Given the description of an element on the screen output the (x, y) to click on. 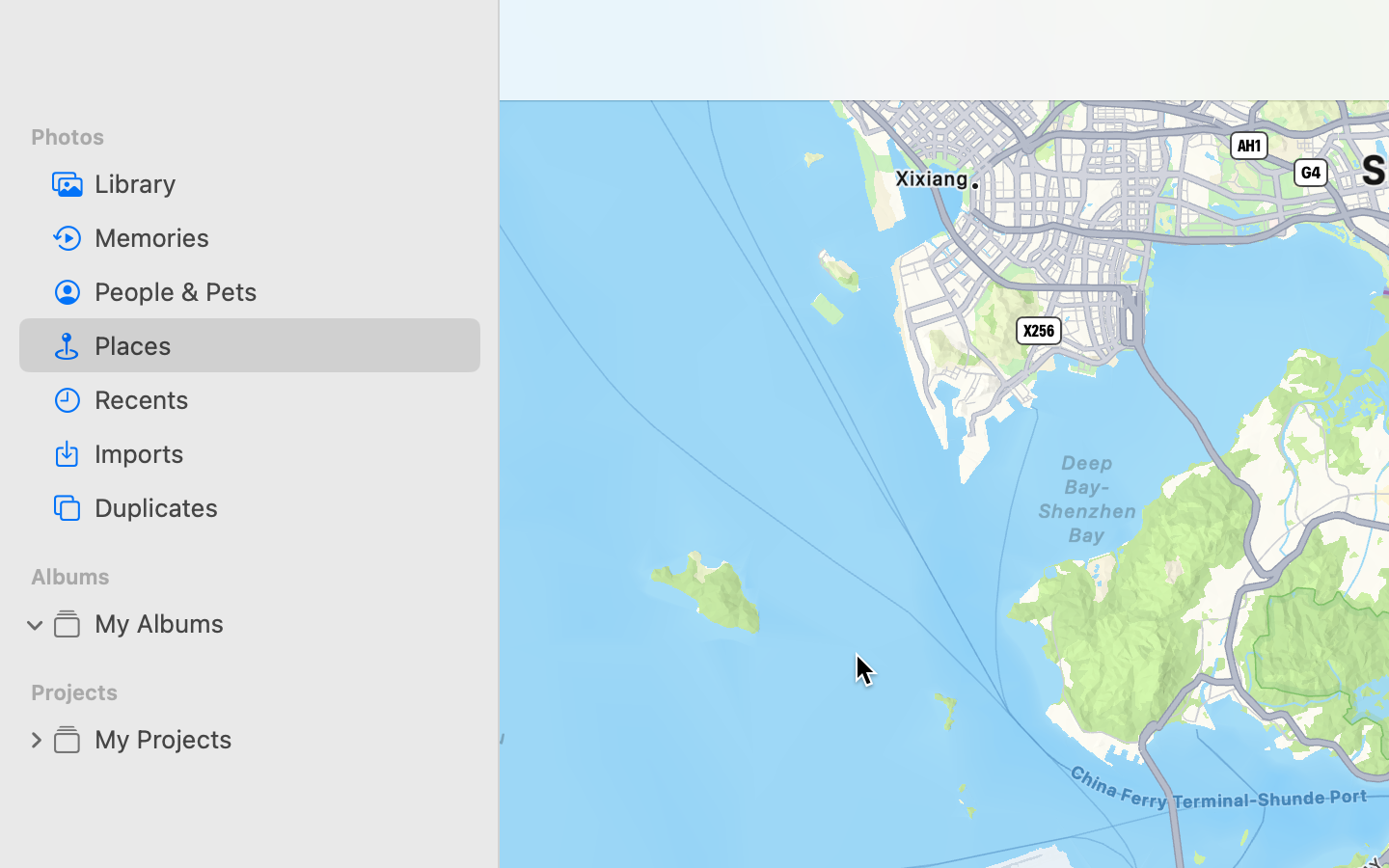
My Projects Element type: AXStaticText (279, 738)
Duplicates Element type: AXStaticText (279, 506)
Projects Element type: AXStaticText (261, 691)
1 Element type: AXDisclosureTriangle (35, 623)
Photos Element type: AXStaticText (261, 136)
